Given the description of an element on the screen output the (x, y) to click on. 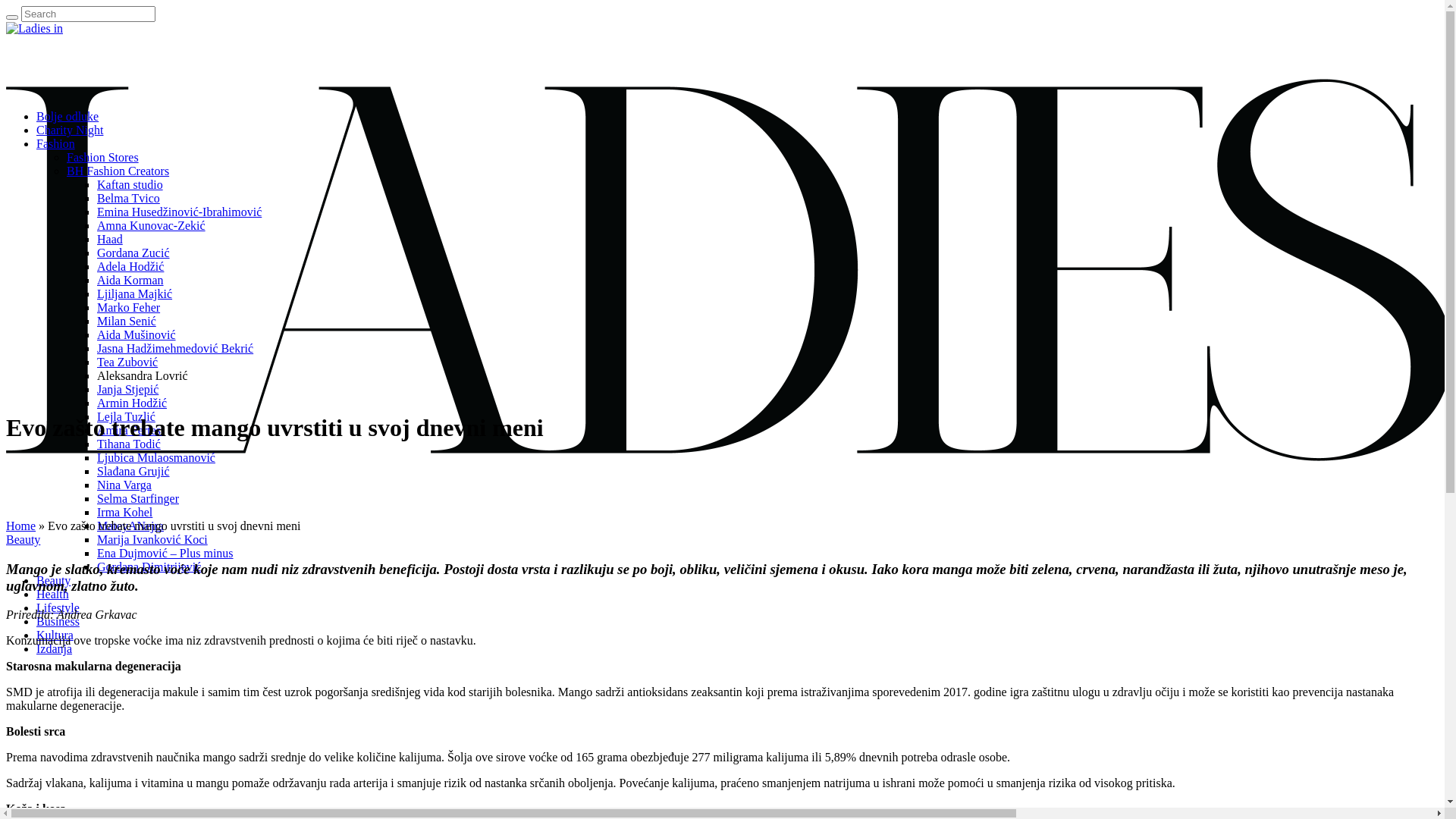
Beauty Element type: text (53, 580)
Marko Feher Element type: text (128, 307)
Aida Korman Element type: text (130, 279)
Kultura Element type: text (54, 634)
Home Element type: text (20, 525)
Belma Tvico Element type: text (128, 197)
MateyANejra Element type: text (130, 525)
Selma Starfinger Element type: text (137, 498)
Irma Kohel Element type: text (124, 511)
Kaftan studio Element type: text (130, 184)
Lifestyle Element type: text (57, 607)
BH Fashion Creators Element type: text (117, 170)
Nina Varga Element type: text (124, 484)
Charity Night Element type: text (69, 129)
Fashion Stores Element type: text (102, 156)
Haad Element type: text (109, 238)
Business Element type: text (57, 621)
Health Element type: text (52, 593)
Fashion Element type: text (55, 143)
Bolje odluke Element type: text (67, 115)
Amira Pertesi Element type: text (130, 429)
Izdanja Element type: text (54, 648)
Beauty Element type: text (23, 539)
